Given the description of an element on the screen output the (x, y) to click on. 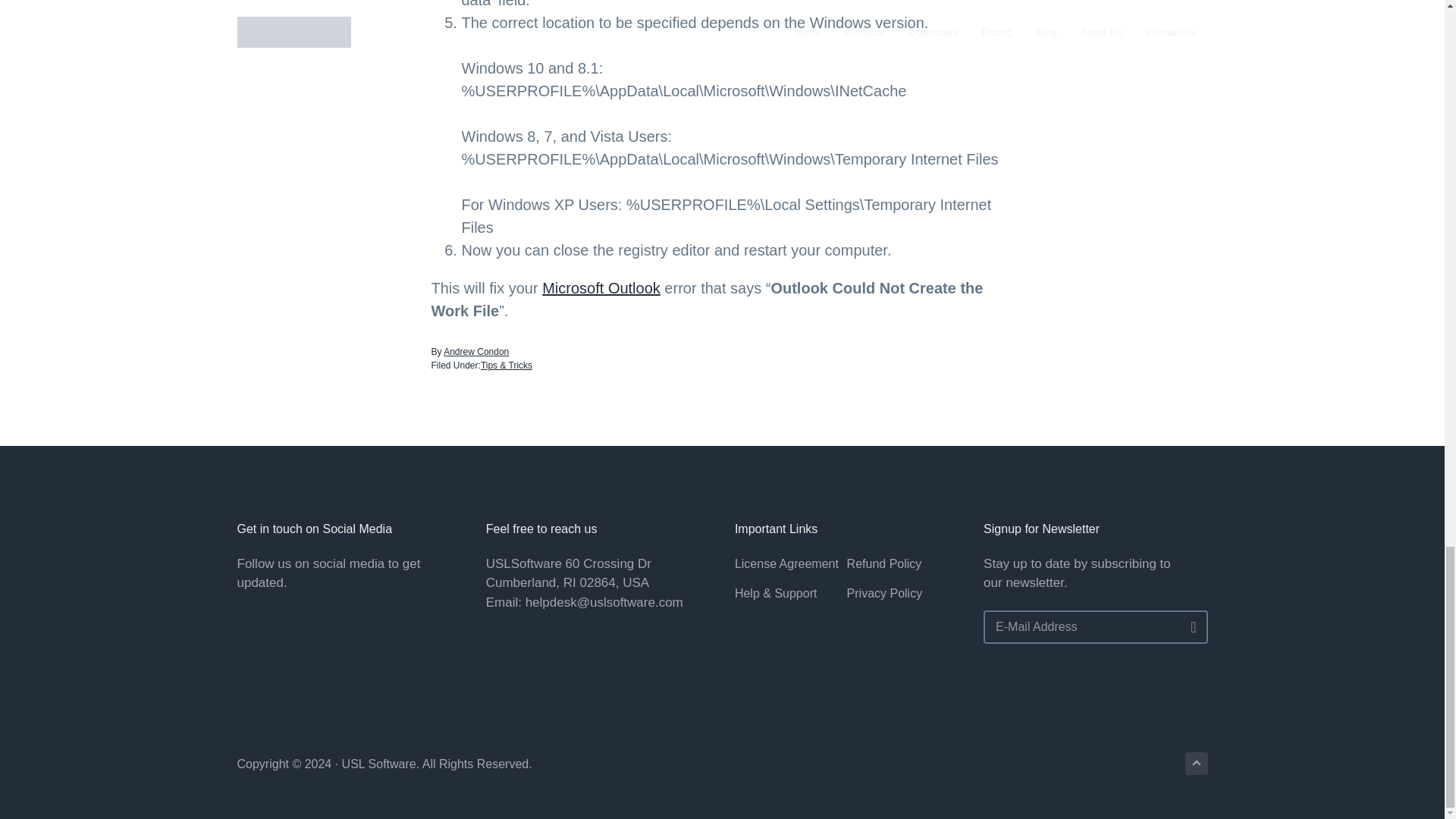
Privacy Policy (903, 593)
License Agreement (791, 564)
Go (1188, 627)
Go (1188, 627)
Andrew Condon (476, 351)
Microsoft Outlook (601, 288)
Refund Policy (903, 564)
